Given the description of an element on the screen output the (x, y) to click on. 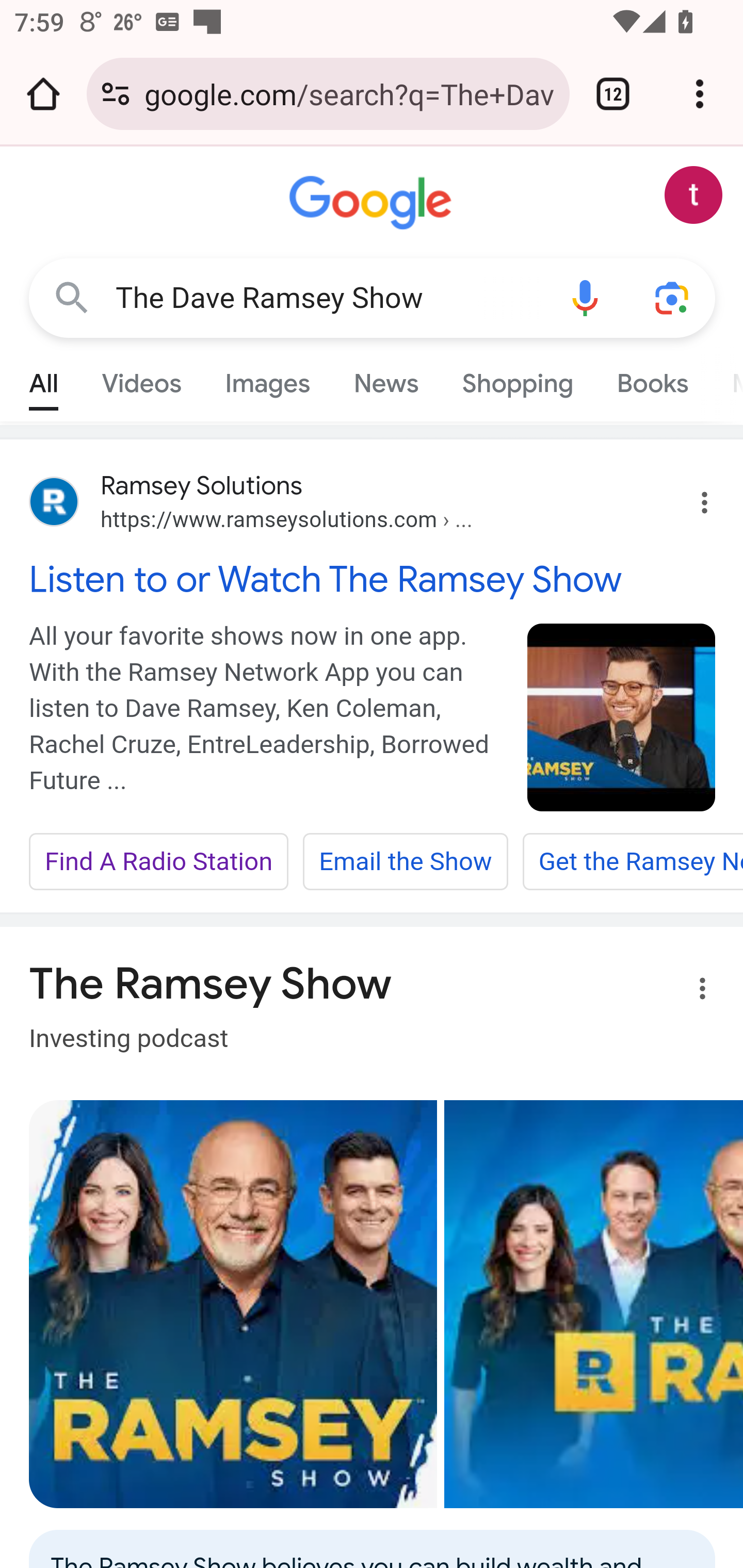
Open the home page (43, 93)
Connection is secure (115, 93)
Switch or close tabs (612, 93)
Customize and control Google Chrome (699, 93)
Google (372, 203)
Google Search (71, 296)
Search using your camera or photos (672, 296)
The Dave Ramsey Show (328, 297)
Videos (141, 378)
Images (267, 378)
News (385, 378)
Shopping (516, 378)
Books (652, 378)
Listen to or Watch The Ramsey Show (372, 579)
the-ramsey-show (621, 717)
Find A Radio Station (158, 862)
Email the Show (404, 862)
Get the Ramsey Network App (632, 862)
More options (690, 991)
Ramsey Network - Ramsey (233, 1303)
The Ramsey Show - KXRO News Radio (593, 1303)
